Given the description of an element on the screen output the (x, y) to click on. 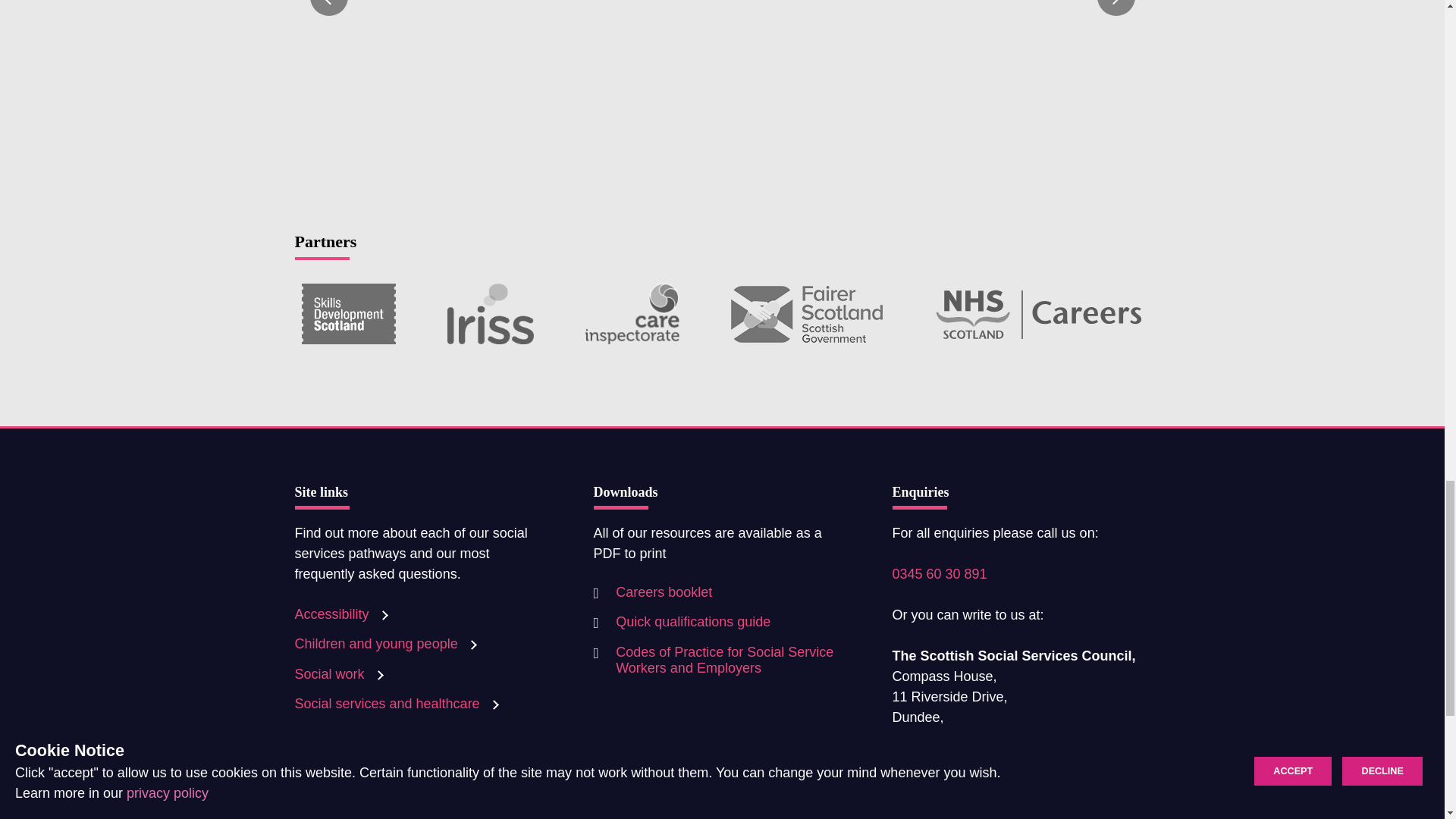
Codes of Practice for Social Service Workers and Employers (721, 660)
Children and young people (387, 643)
FAQs (323, 734)
Social work (341, 673)
Social services and healthcare (398, 703)
Careers booklet (651, 592)
Accessibility (343, 613)
Quick qualifications guide (681, 623)
Toolkit (325, 763)
0345 60 30 891 (939, 572)
